Given the description of an element on the screen output the (x, y) to click on. 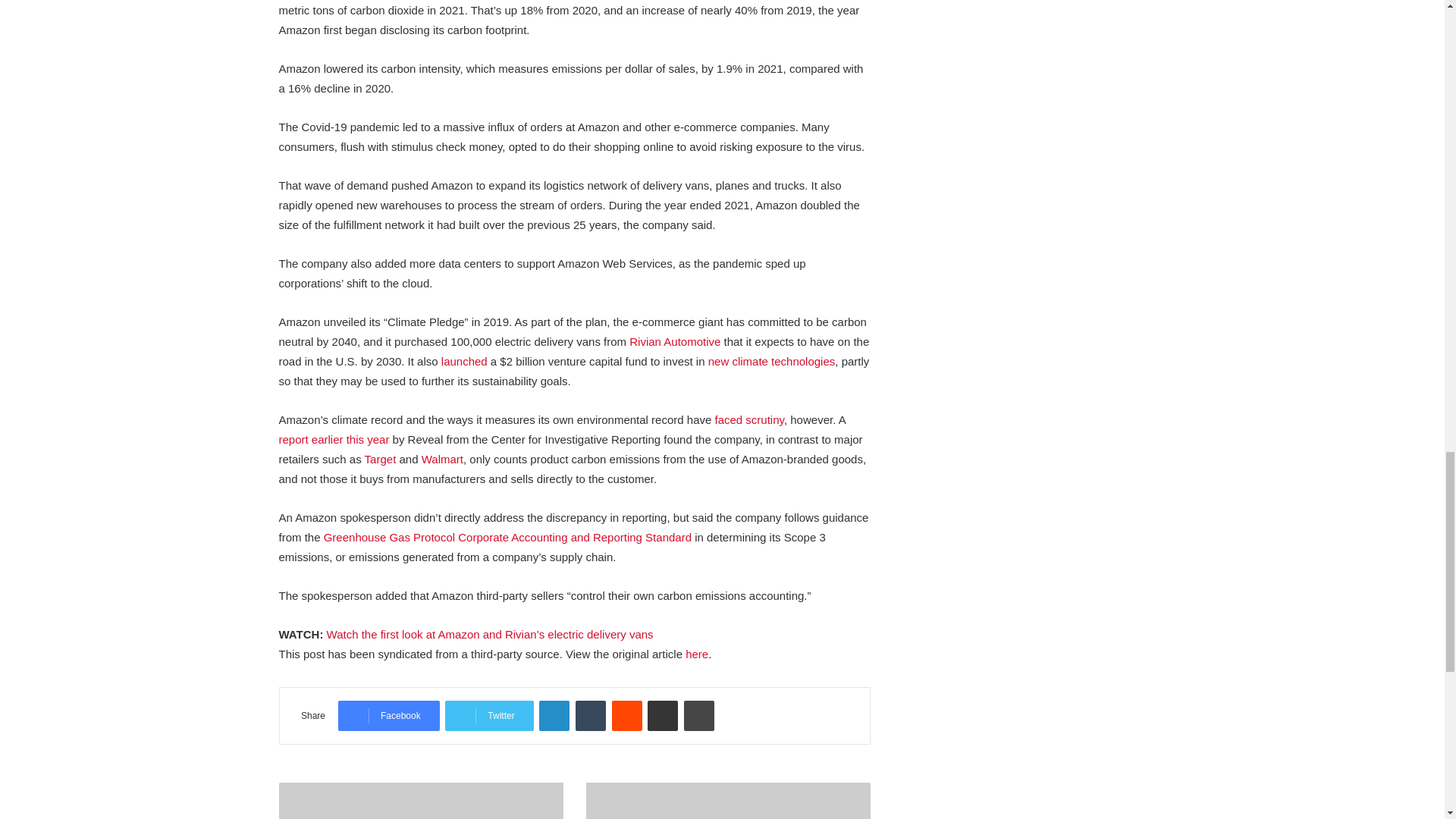
Rivian Automotive (674, 341)
here (696, 653)
report earlier this year (334, 439)
Walmart (442, 459)
faced scrutiny (748, 419)
Target (380, 459)
launched (464, 360)
new climate technologies (771, 360)
